Given the description of an element on the screen output the (x, y) to click on. 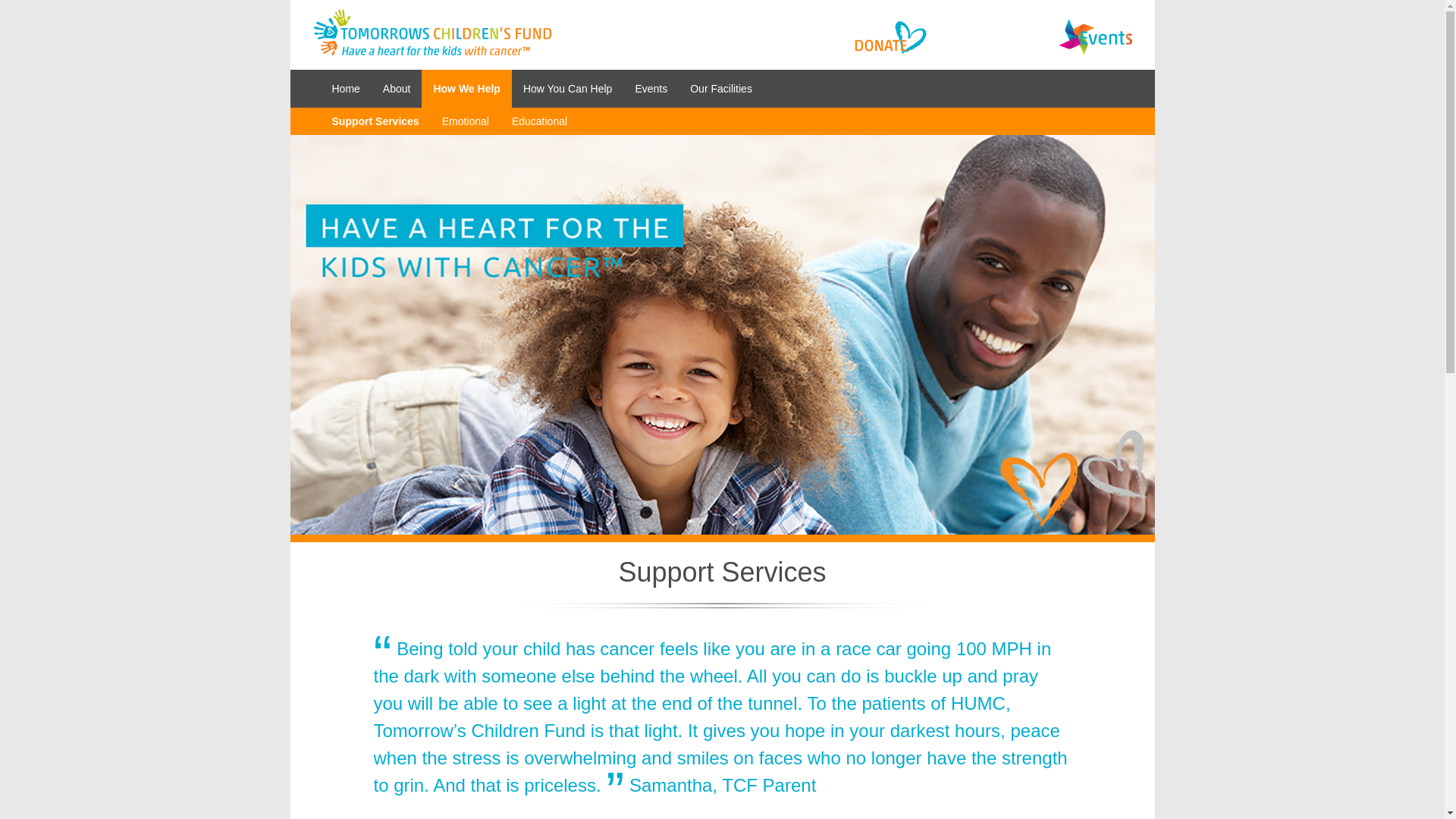
Educational (539, 120)
Emotional (465, 120)
Support Services (374, 120)
How You Can Help (568, 88)
How We Help (466, 88)
Our Facilities (720, 88)
About (396, 88)
Home (345, 88)
Events (650, 88)
